Given the description of an element on the screen output the (x, y) to click on. 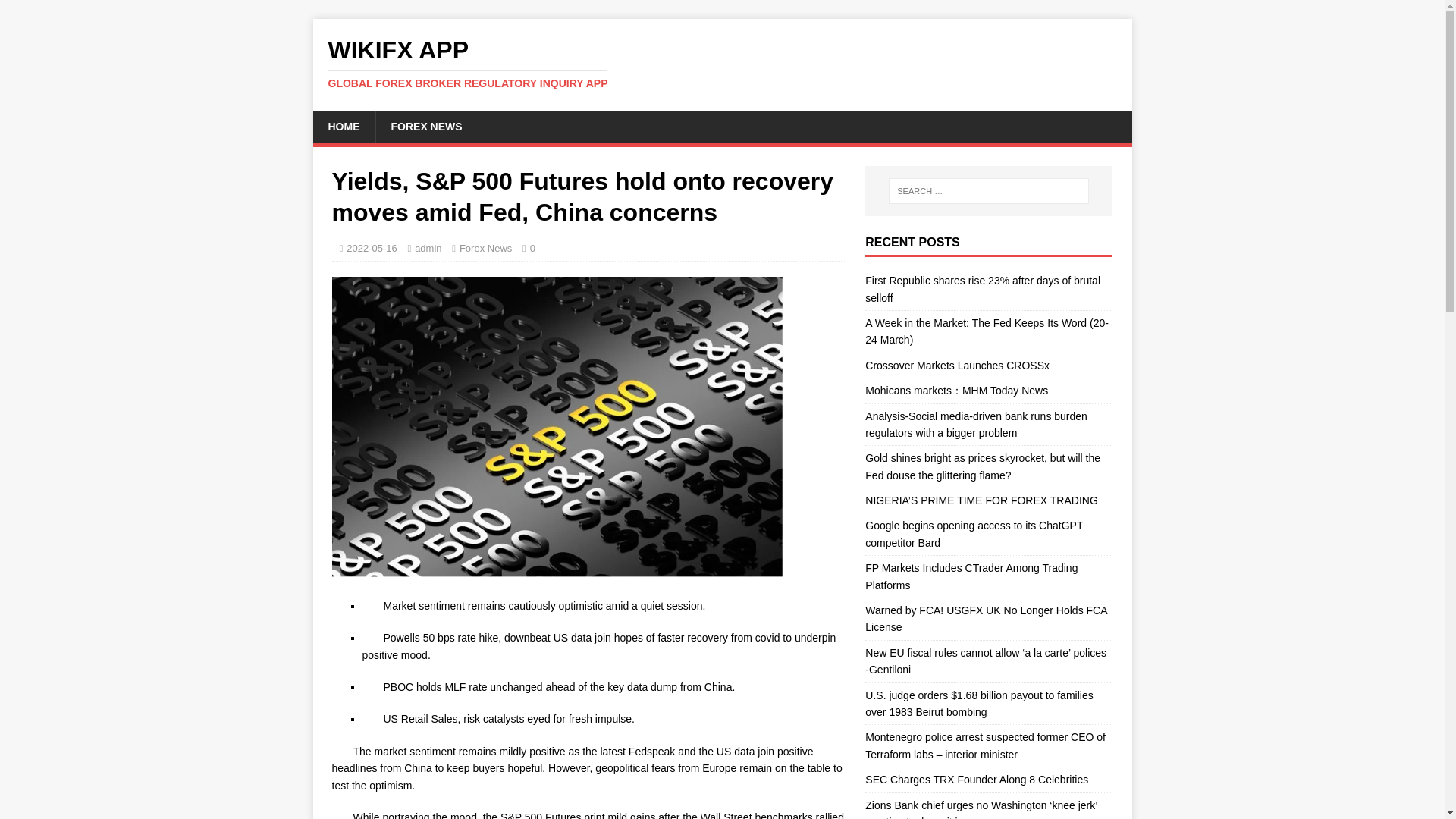
WikiFX APP (721, 63)
FP Markets Includes CTrader Among Trading Platforms (721, 63)
FOREX NEWS (970, 575)
Forex News (425, 126)
HOME (486, 247)
Untitled.png (343, 126)
Crossover Markets Launches CROSSx (973, 533)
Search (956, 365)
2022-05-16 (56, 11)
Warned by FCA! USGFX UK No Longer Holds FCA License (371, 247)
SEC Charges TRX Founder Along 8 Celebrities (985, 618)
